Given the description of an element on the screen output the (x, y) to click on. 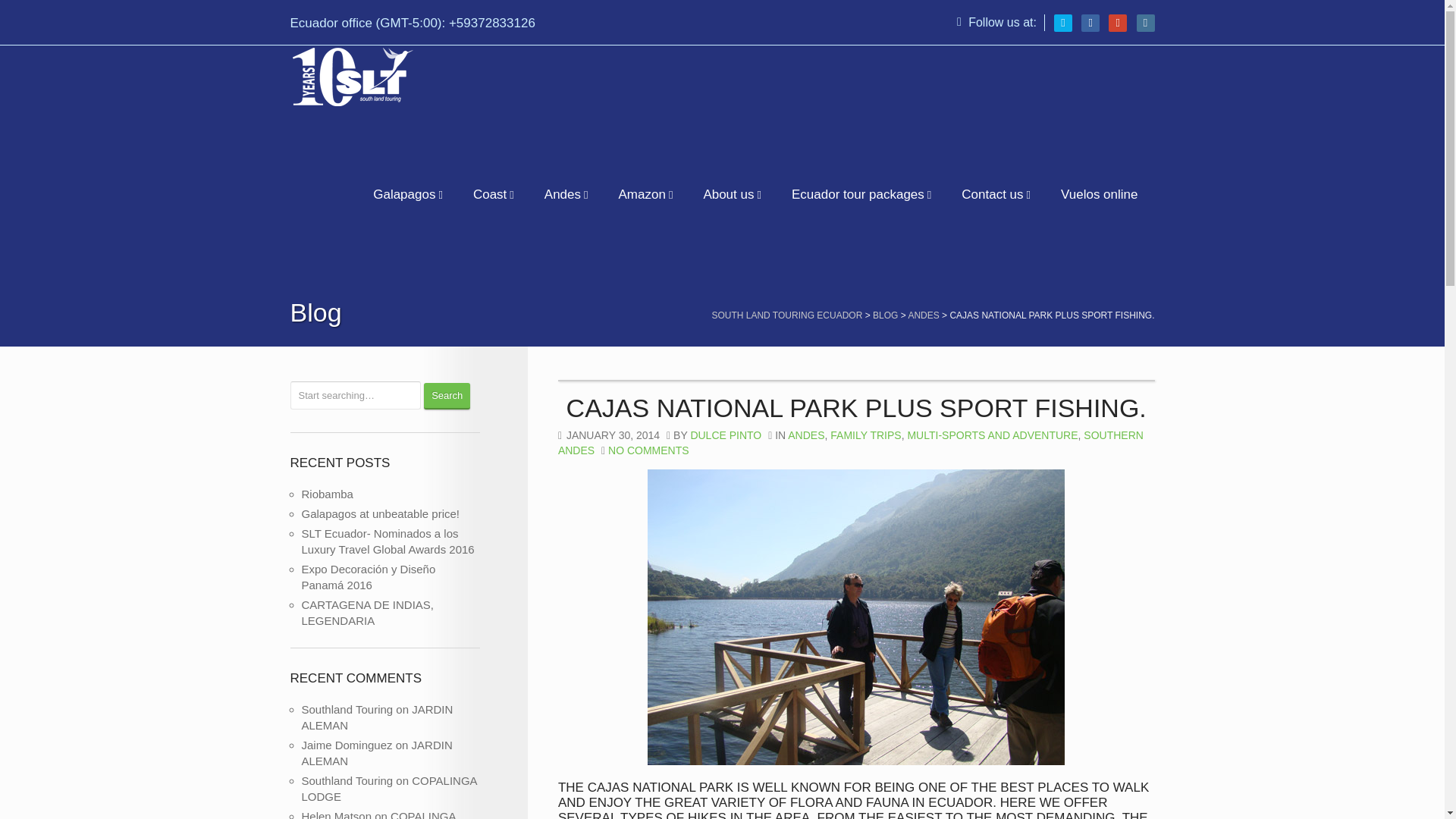
South Land Touring Ecuador (351, 74)
cajas (855, 616)
Galapagos (406, 194)
Search (446, 396)
Amazon (644, 194)
Search (446, 396)
About us (729, 194)
Andes (564, 194)
Go to Blog. (885, 315)
Go to the Andes Category archives. (923, 315)
Go to South Land Touring Ecuador. (786, 315)
Coast (492, 194)
Posts by Dulce Pinto (725, 435)
